Given the description of an element on the screen output the (x, y) to click on. 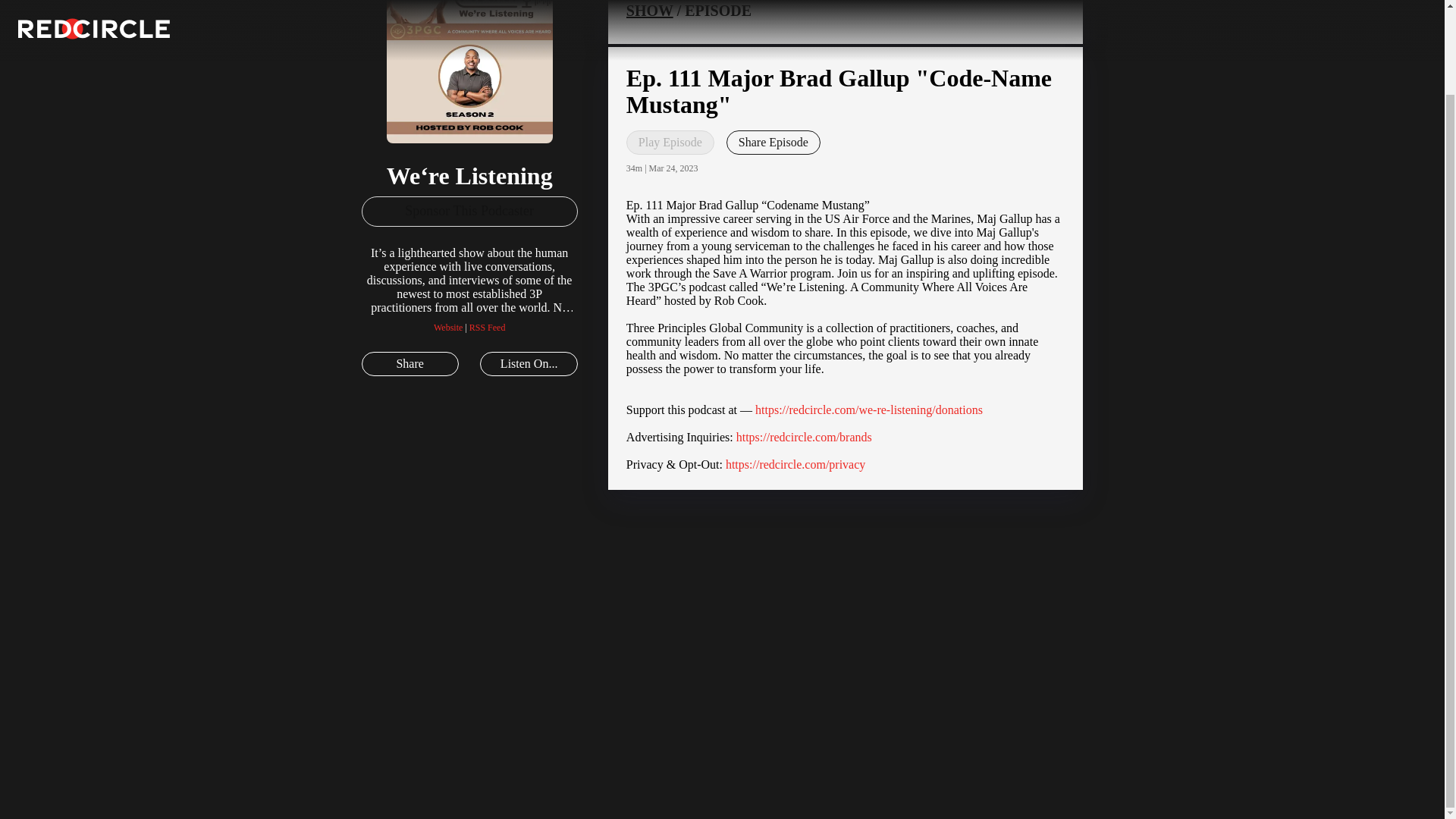
SHOW (649, 10)
Listen On... (528, 363)
Website (448, 327)
Share Episode (773, 142)
Share (409, 363)
Play Episode (670, 142)
RSS Feed (486, 327)
Sponsor This Podcaster (468, 211)
